Given the description of an element on the screen output the (x, y) to click on. 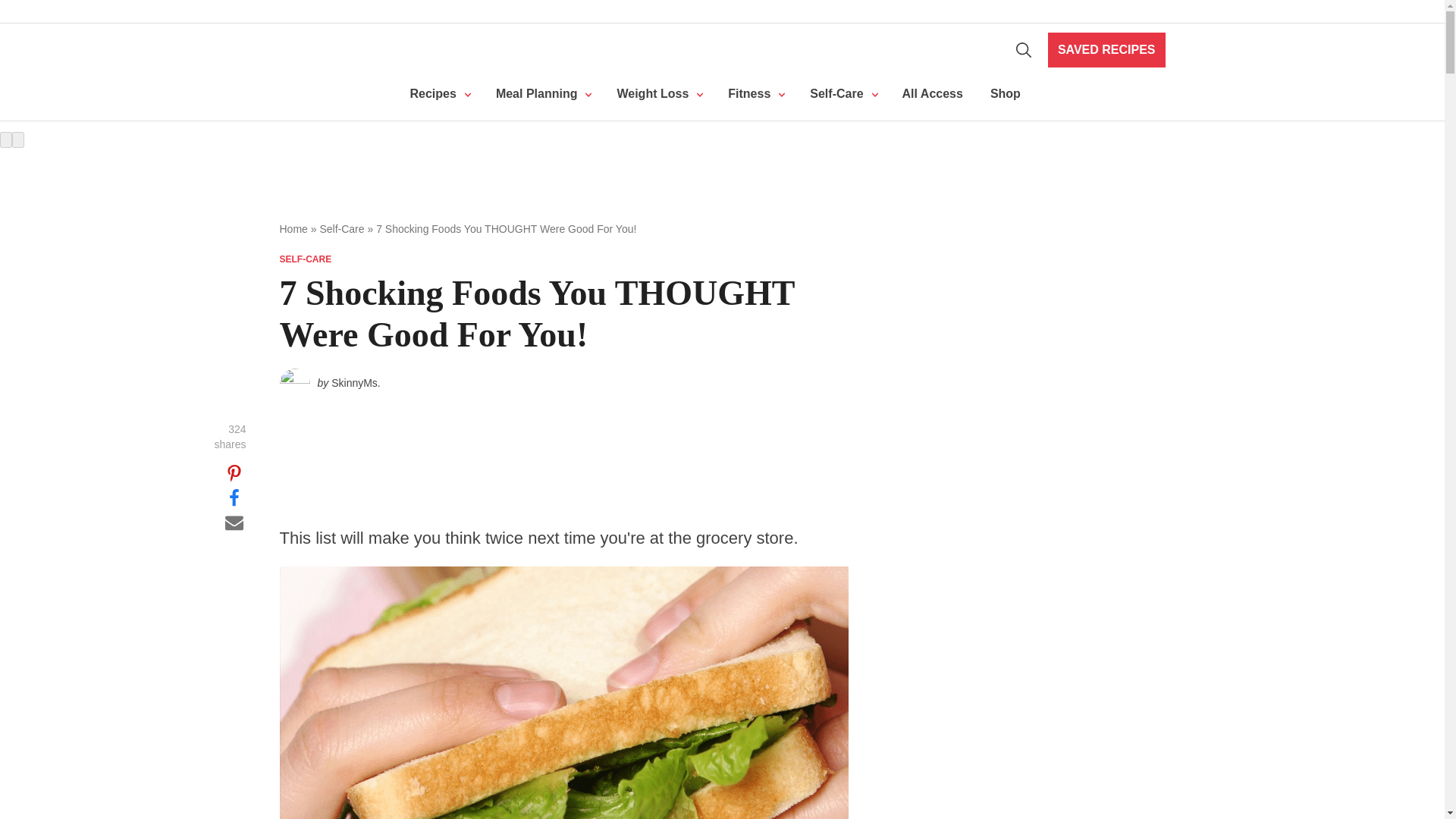
Share via Email (233, 521)
Search (1023, 49)
Recipes (438, 94)
SAVED RECIPES (1107, 49)
Share on Pinterest (233, 473)
Share on Facebook (233, 497)
Weight Loss Recipes And Menus (541, 94)
Skinny Ms. (336, 49)
